Given the description of an element on the screen output the (x, y) to click on. 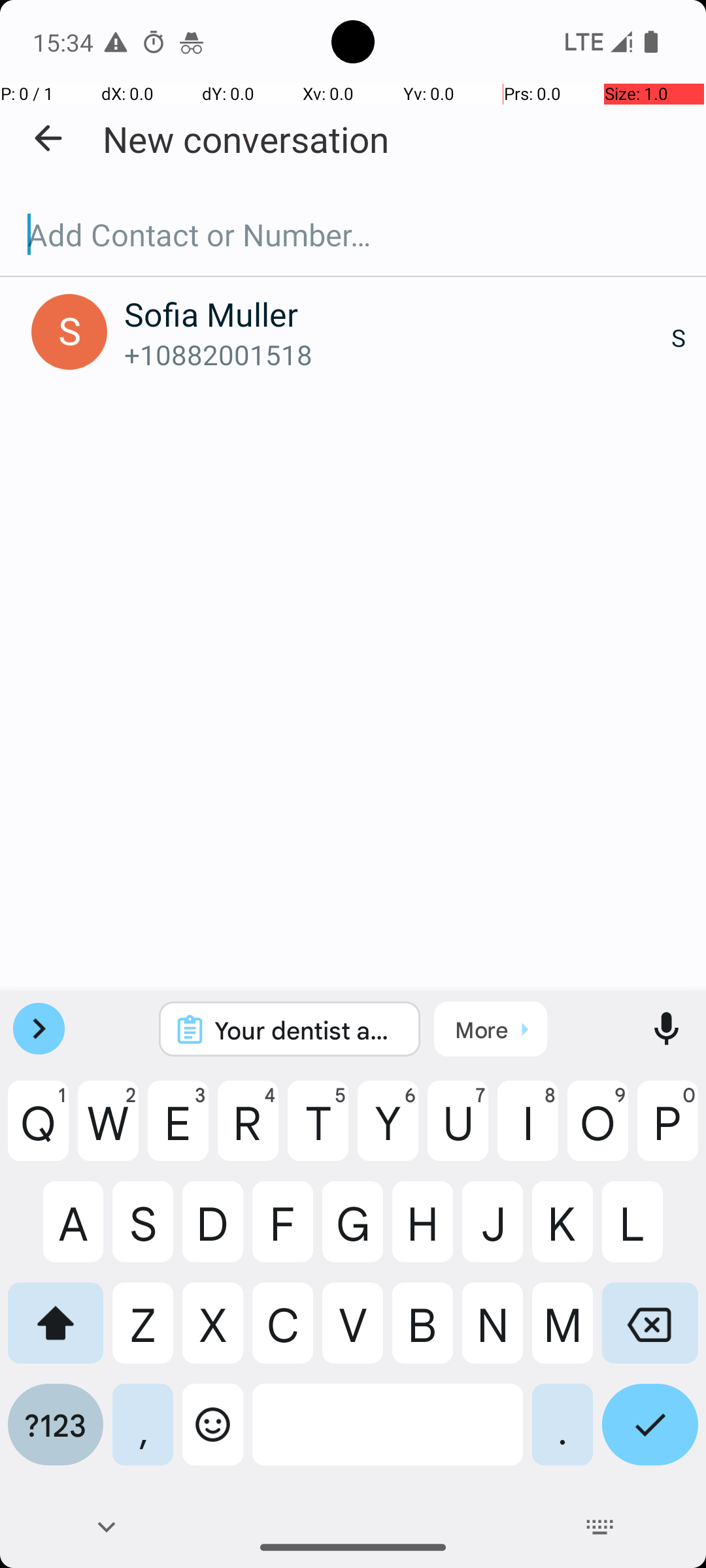
New conversation Element type: android.widget.TextView (245, 138)
Add Contact or Number… Element type: android.widget.EditText (352, 234)
Sofia Muller Element type: android.widget.TextView (397, 313)
+10882001518 Element type: android.widget.TextView (397, 354)
Your dentist appointment is scheduled for 2 PM on Thursday. Element type: android.widget.TextView (306, 1029)
